Given the description of an element on the screen output the (x, y) to click on. 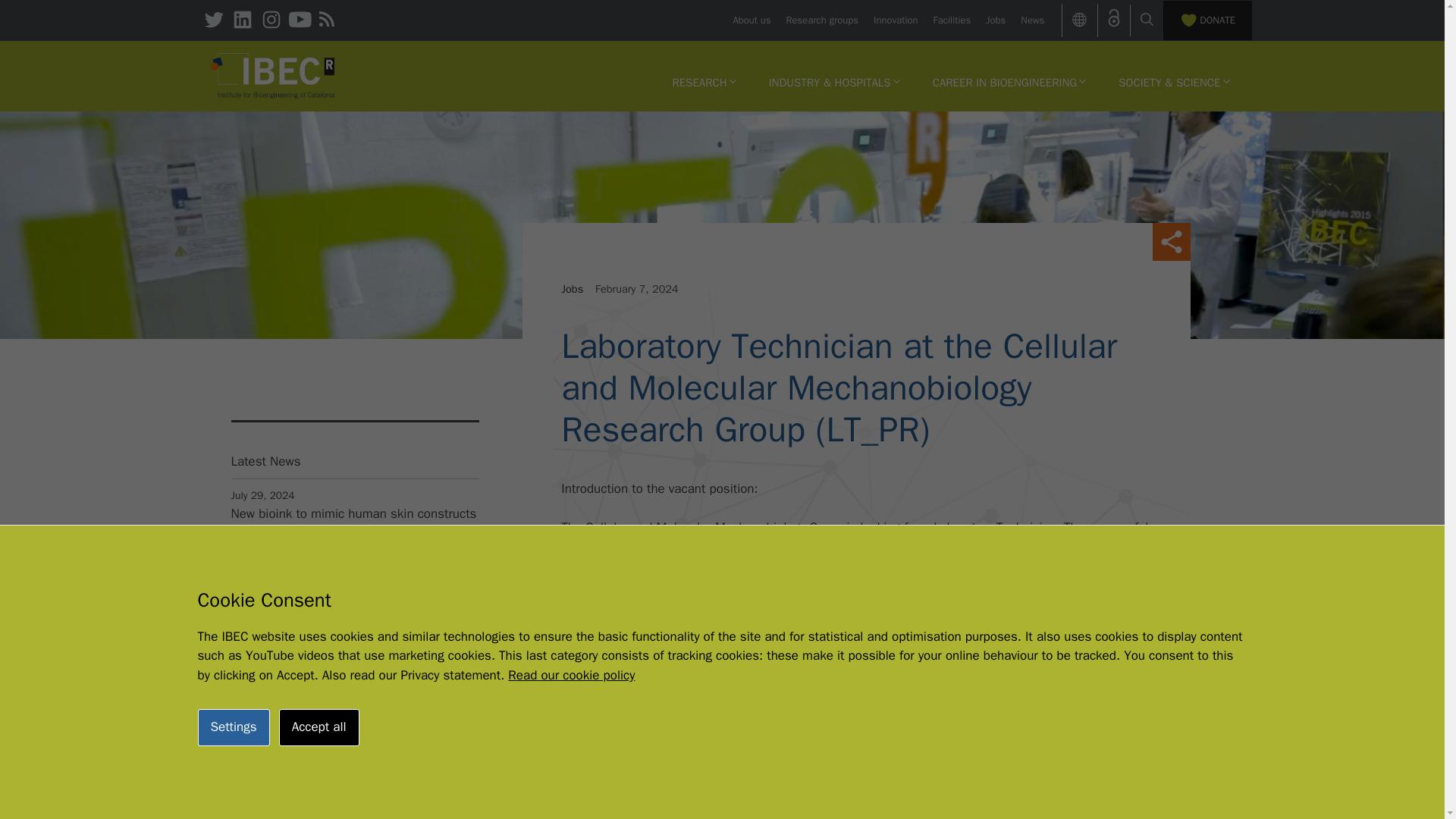
Institute for Bioengineering of Catalonia (272, 74)
Institute for Bioengineering of Catalonia (272, 75)
Jobs (995, 19)
Research groups (822, 19)
News (1031, 19)
DONATE (1207, 20)
About us (751, 19)
RESEARCH (704, 81)
Facilities (952, 19)
Innovation (895, 19)
